Given the description of an element on the screen output the (x, y) to click on. 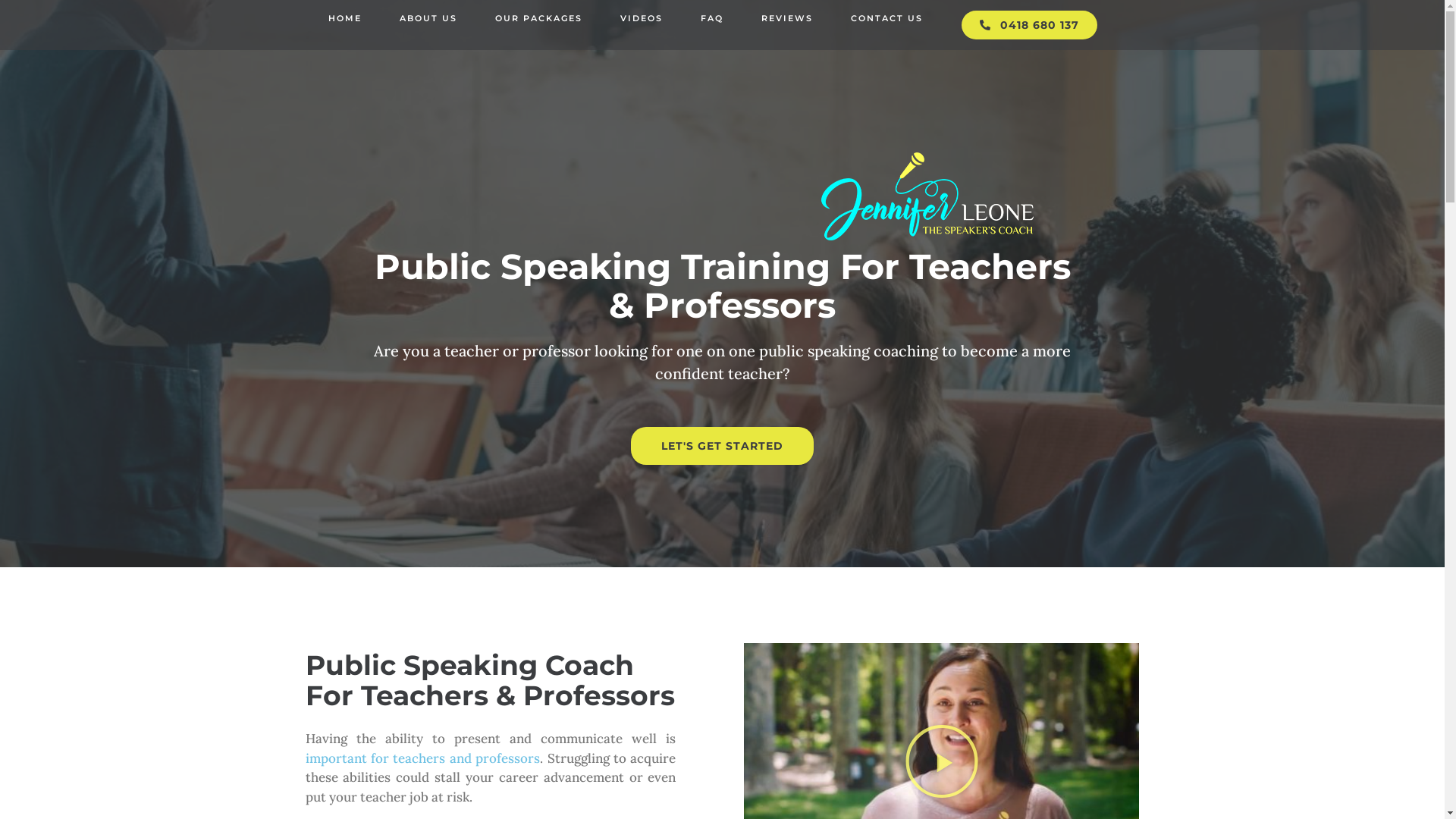
ABOUT US Element type: text (428, 17)
FAQ Element type: text (711, 17)
OUR PACKAGES Element type: text (538, 17)
VIDEOS Element type: text (641, 17)
important for teachers and professors Element type: text (421, 757)
HOME Element type: text (344, 17)
CONTACT US Element type: text (886, 17)
LET'S GET STARTED Element type: text (721, 445)
REVIEWS Element type: text (787, 17)
0418 680 137 Element type: text (1029, 24)
